Given the description of an element on the screen output the (x, y) to click on. 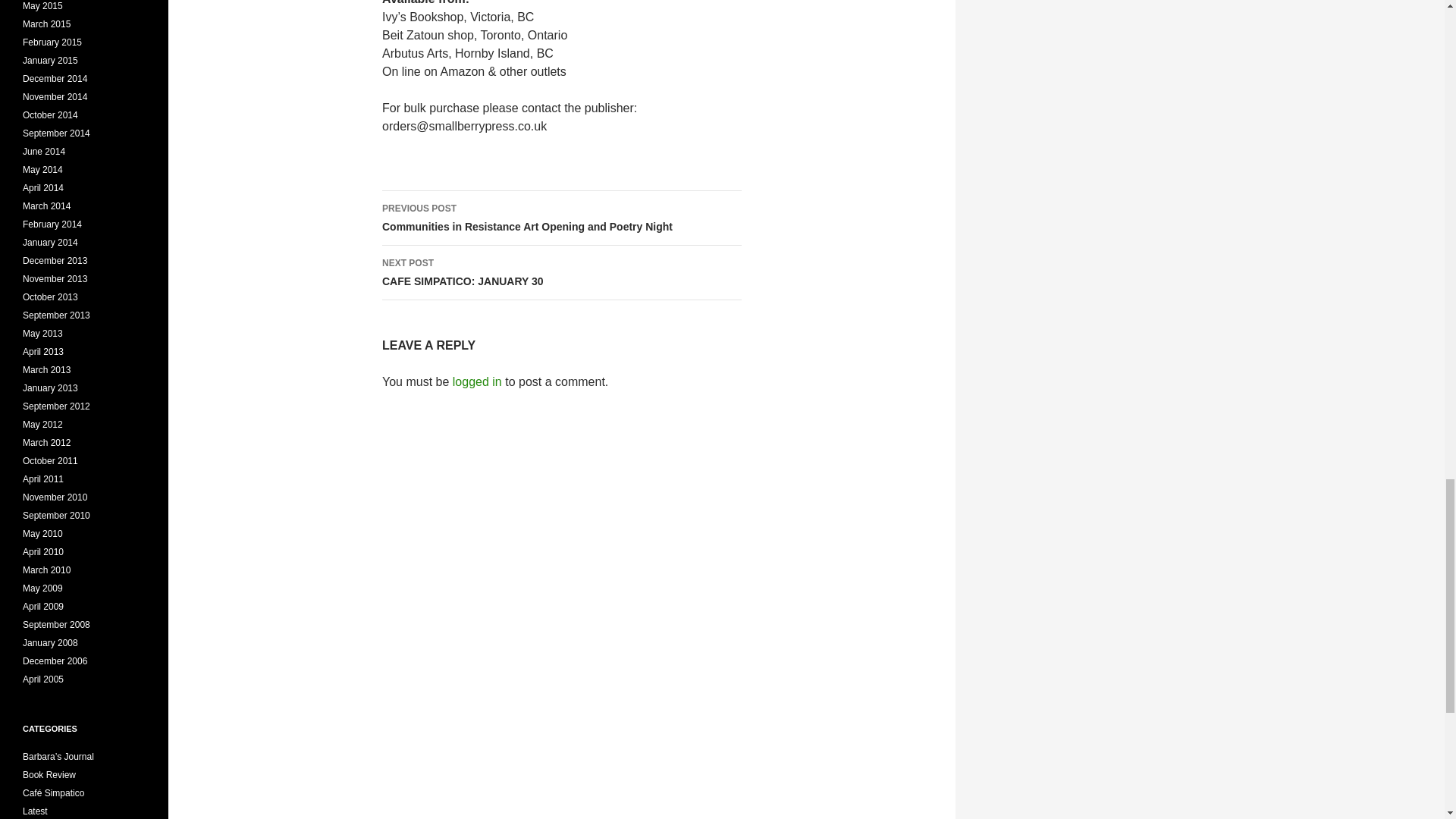
logged in (477, 381)
